Given the description of an element on the screen output the (x, y) to click on. 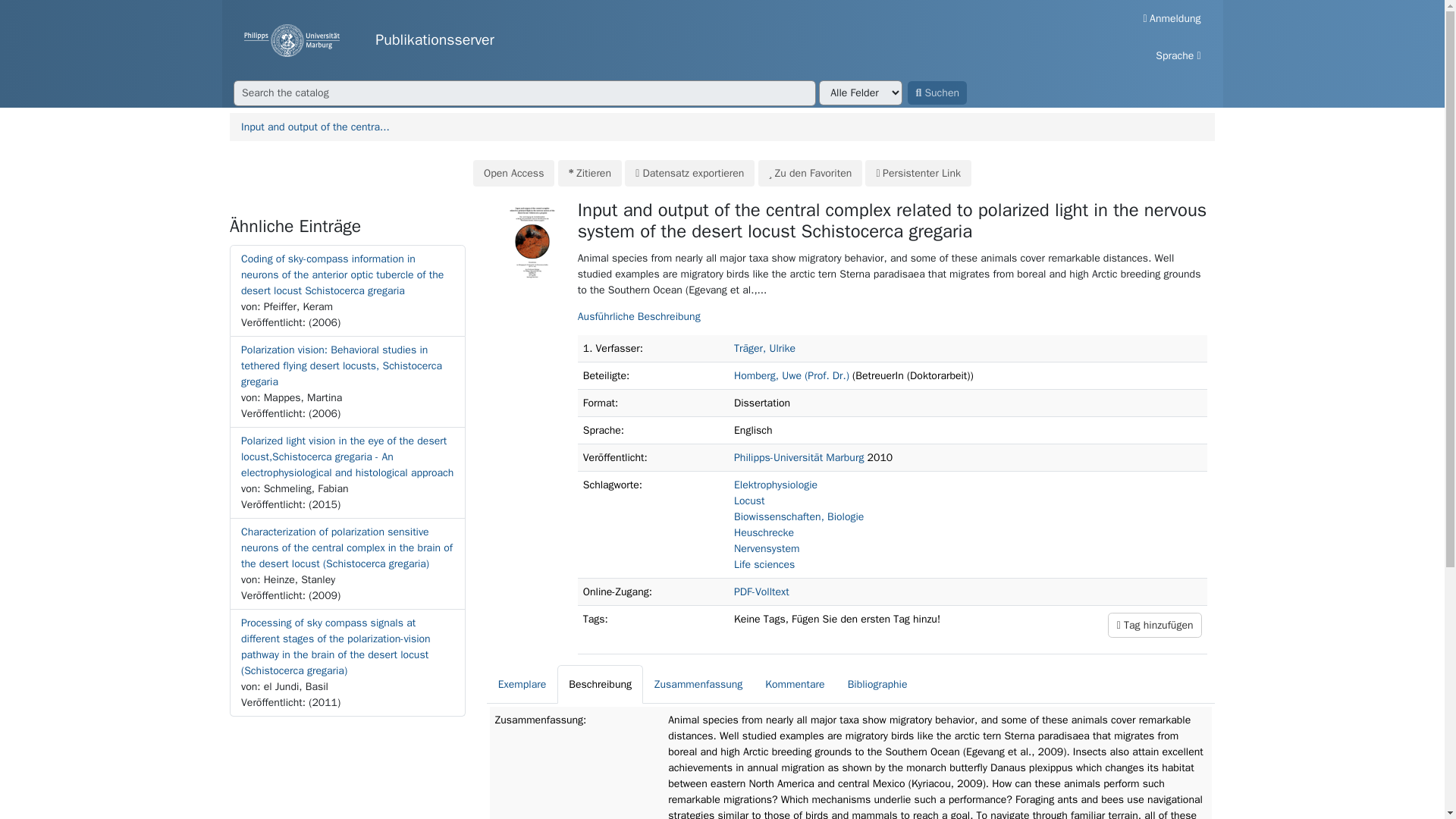
Biowissenschaften, Biologie (798, 516)
Heuschrecke (763, 532)
Elektrophysiologie (774, 484)
Anmeldung (1171, 18)
Nervensystem (766, 548)
Publikationsserver (654, 40)
Life sciences (763, 563)
Locust (749, 500)
Sprache (1177, 55)
